Given the description of an element on the screen output the (x, y) to click on. 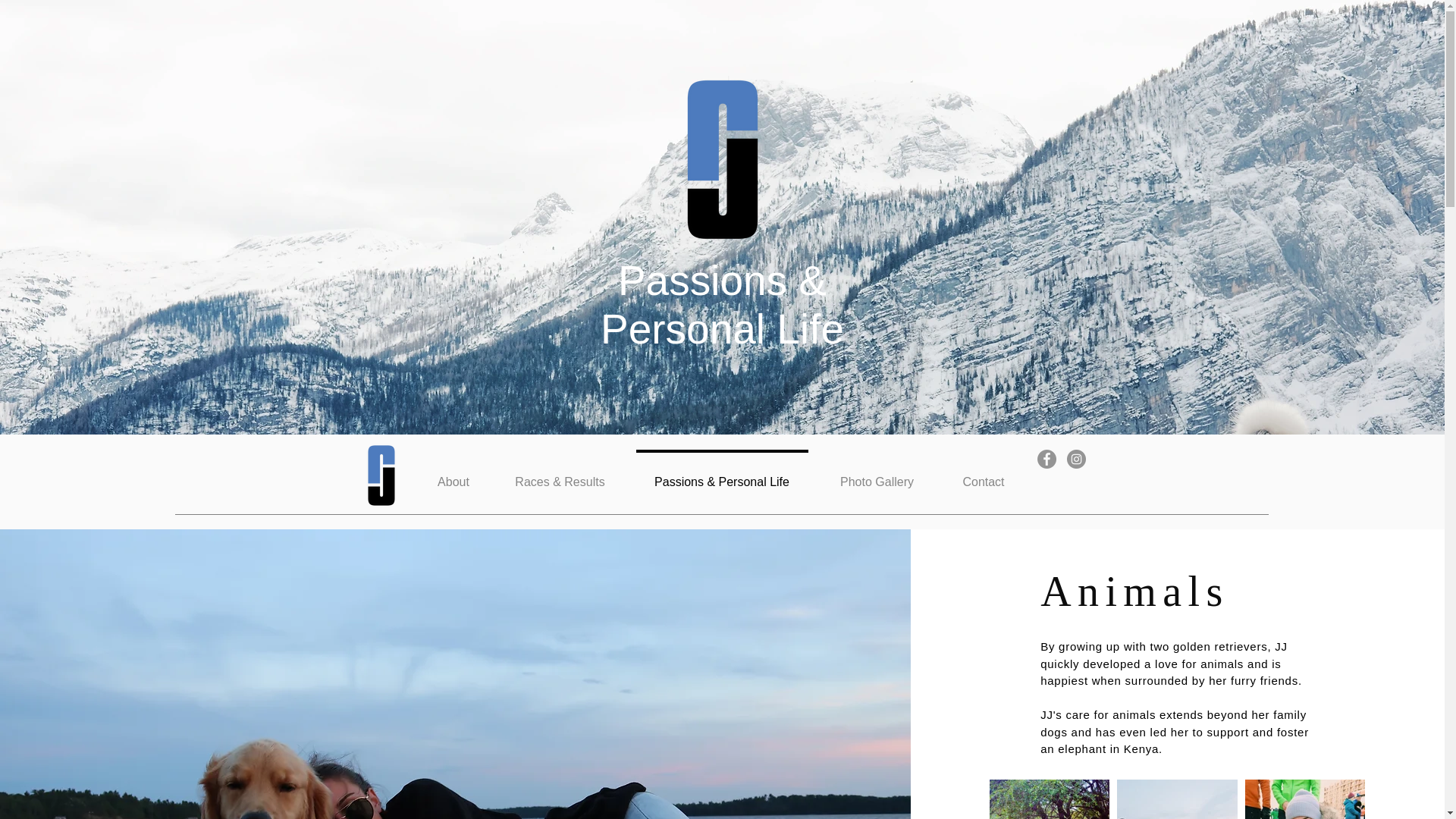
Photo Gallery (877, 474)
About (453, 474)
Contact (984, 474)
